Given the description of an element on the screen output the (x, y) to click on. 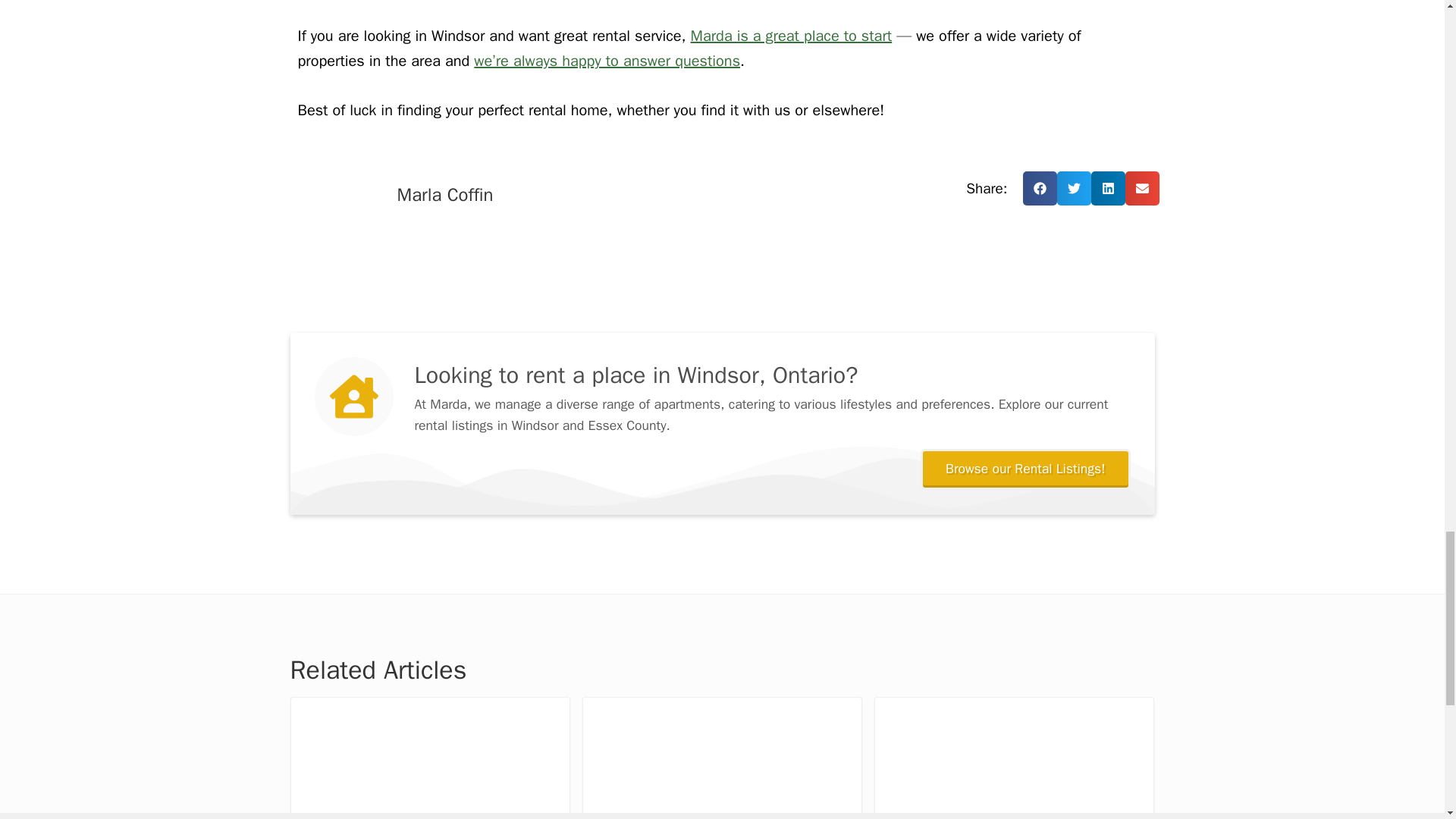
Top Websites For Advertising Your Rental Listing In 2023 (722, 757)
